Given the description of an element on the screen output the (x, y) to click on. 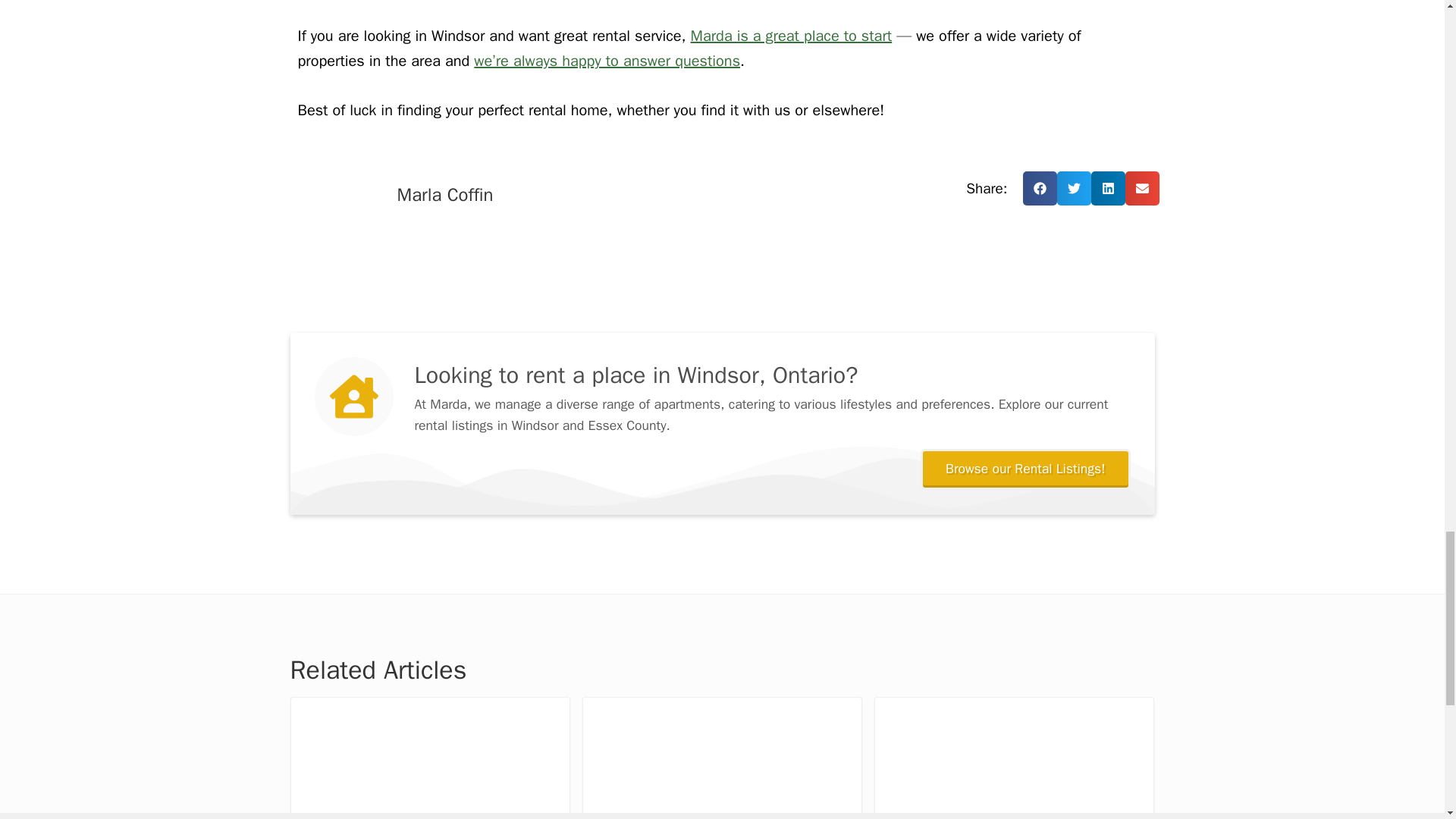
Top Websites For Advertising Your Rental Listing In 2023 (722, 757)
